Given the description of an element on the screen output the (x, y) to click on. 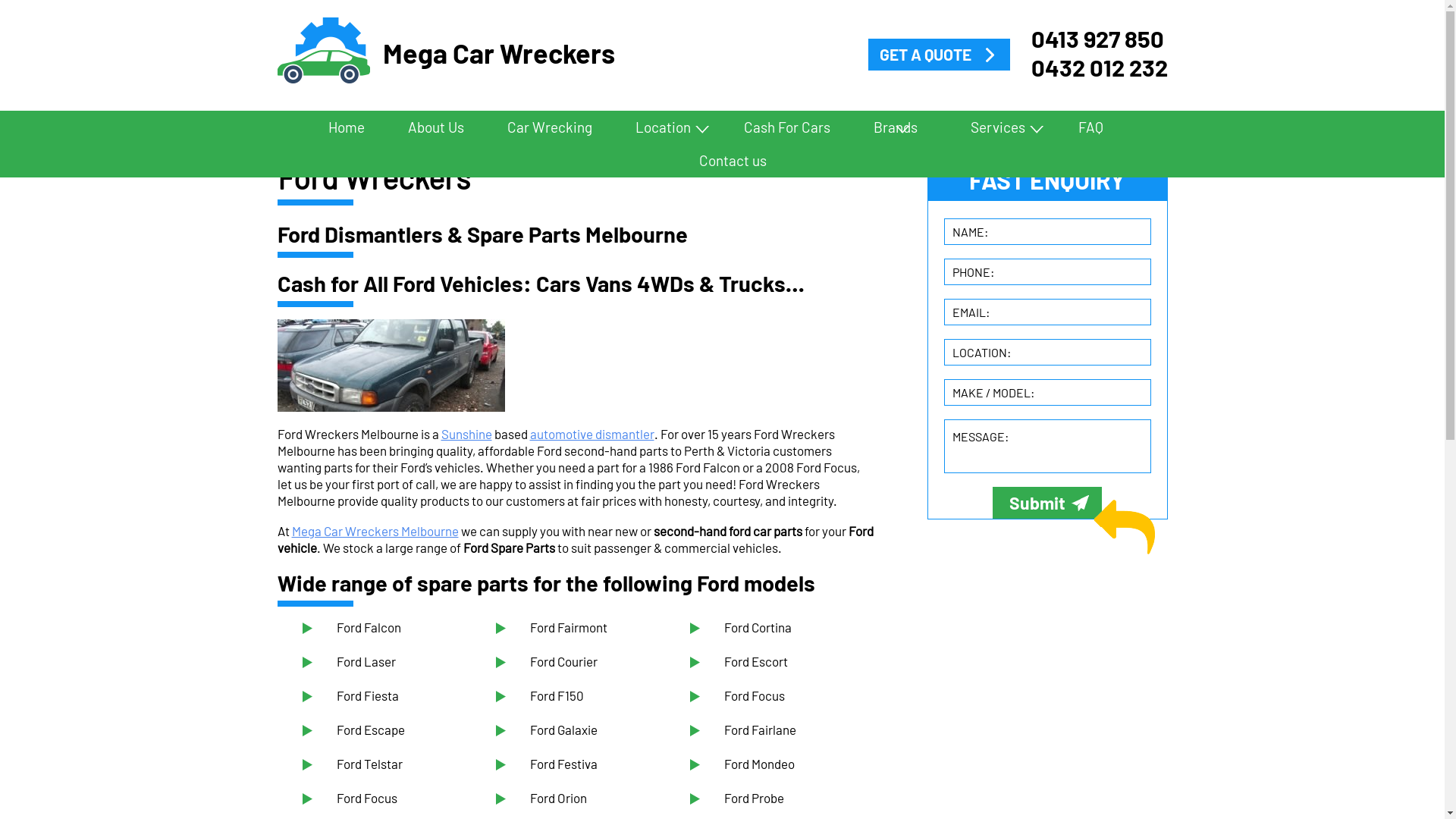
Location Element type: text (667, 127)
Submit Element type: text (1046, 502)
Fast Enquiry Element type: hover (1124, 526)
Contact us Element type: text (728, 160)
GET A QUOTE Element type: text (938, 54)
Car Wrecking Element type: text (549, 127)
About Us Element type: text (435, 127)
Cash For Cars Element type: text (786, 127)
automotive dismantler Element type: text (591, 433)
Brands Element type: text (900, 127)
Services Element type: text (1002, 127)
Sunshine Element type: text (466, 433)
FAQ Element type: text (1090, 127)
Mega Car Wreckers Element type: text (453, 51)
0432 012 232 Element type: text (1099, 67)
Home Element type: text (346, 127)
Mega Car Wreckers Melbourne Element type: text (374, 530)
Ford Wreckers Element type: hover (391, 365)
0413 927 850 Element type: text (1099, 38)
Mega Car Wreckers Element type: hover (323, 51)
